Given the description of an element on the screen output the (x, y) to click on. 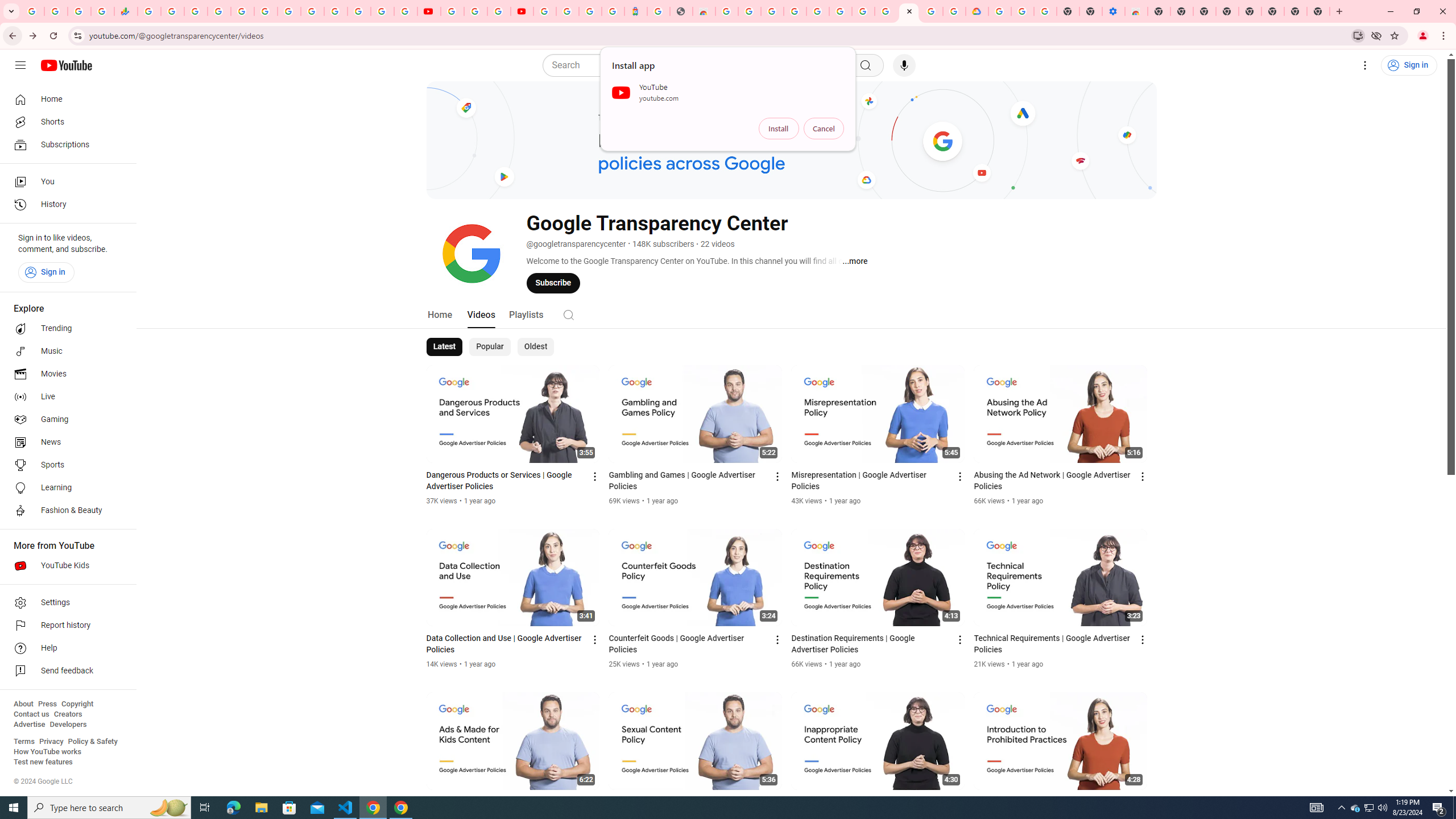
Create your Google Account (931, 11)
